Given the description of an element on the screen output the (x, y) to click on. 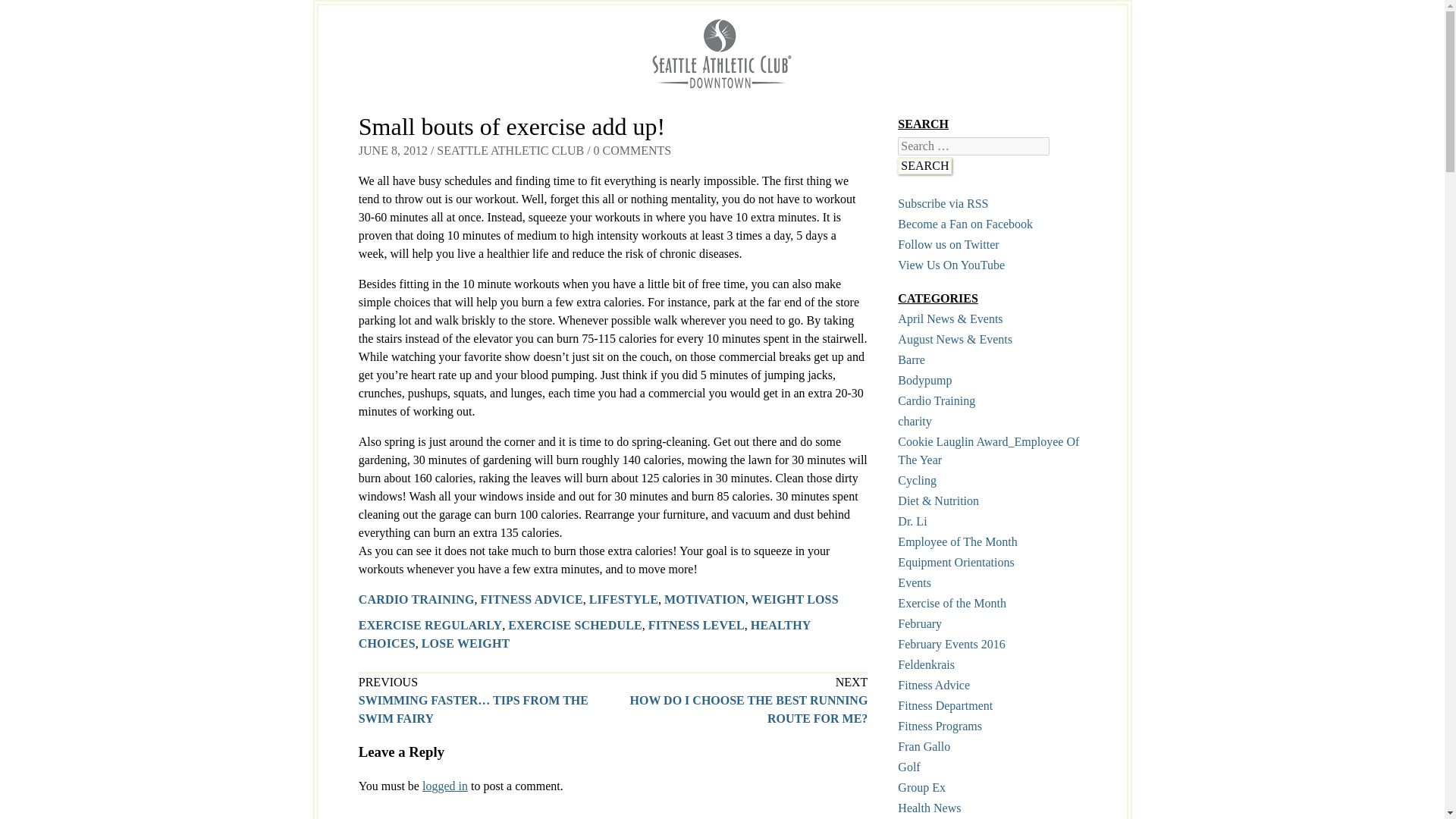
7:15 am (393, 150)
HOW DO I CHOOSE THE BEST RUNNING ROUTE FOR ME? (747, 708)
logged in (444, 785)
0 COMMENTS (632, 150)
LIFESTYLE (623, 599)
CARDIO TRAINING (416, 599)
EXERCISE REGULARLY (430, 625)
SEATTLE ATHLETIC CLUB (509, 150)
JUNE 8, 2012 (393, 150)
WEIGHT LOSS (794, 599)
HEALTHY CHOICES (584, 634)
EXERCISE SCHEDULE (575, 625)
Posts by Seattle Athletic Club (509, 150)
LOSE WEIGHT (466, 643)
FITNESS ADVICE (531, 599)
